Given the description of an element on the screen output the (x, y) to click on. 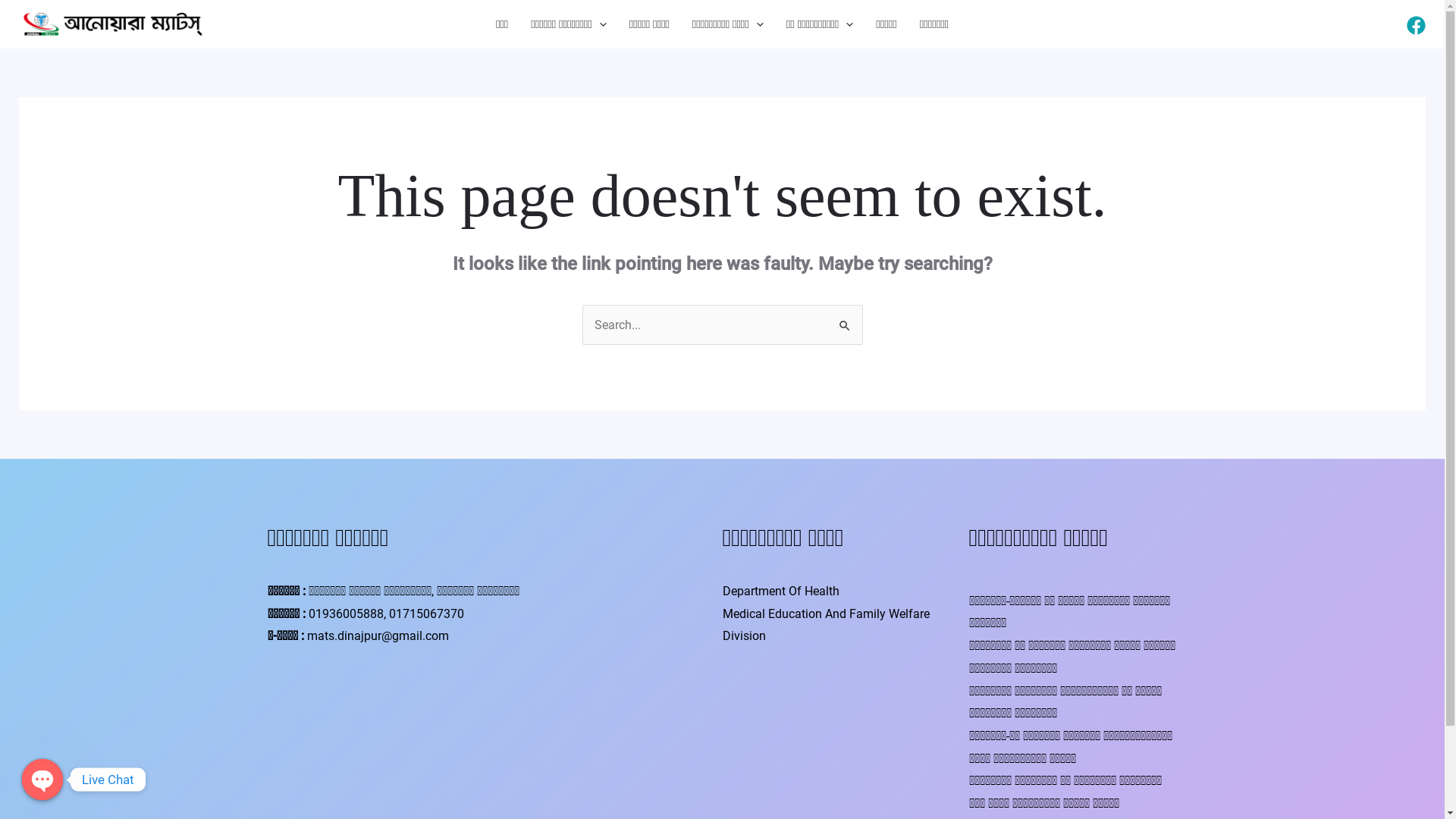
Department Of Health Element type: text (779, 590)
Medical Education And Family Welfare Division Element type: text (824, 624)
Search Element type: text (845, 319)
